Given the description of an element on the screen output the (x, y) to click on. 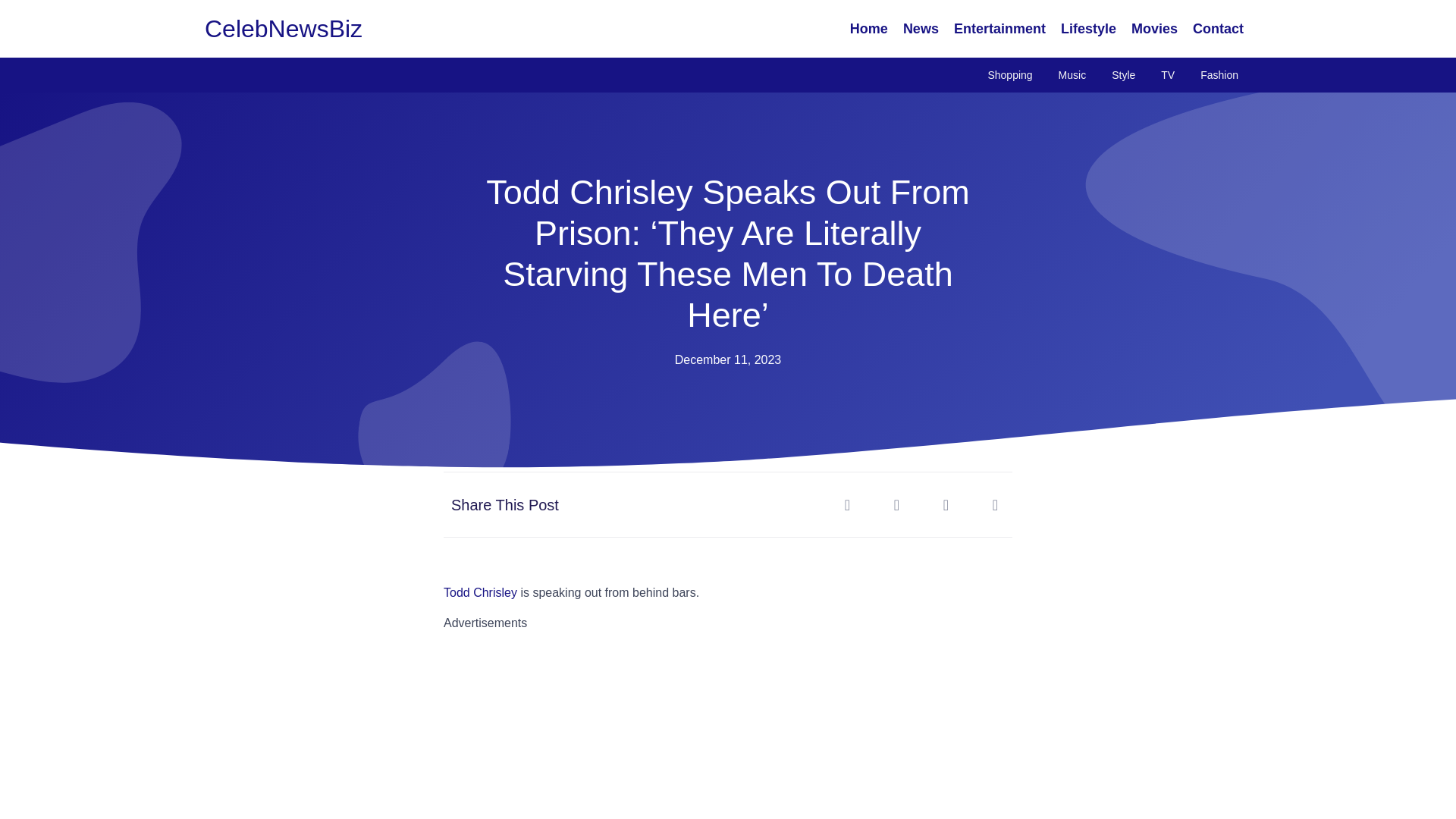
Contact (1217, 28)
Home (869, 28)
Movies (1154, 28)
Lifestyle (1088, 28)
News (920, 28)
Entertainment (999, 28)
CelebNewsBiz (283, 28)
